Given the description of an element on the screen output the (x, y) to click on. 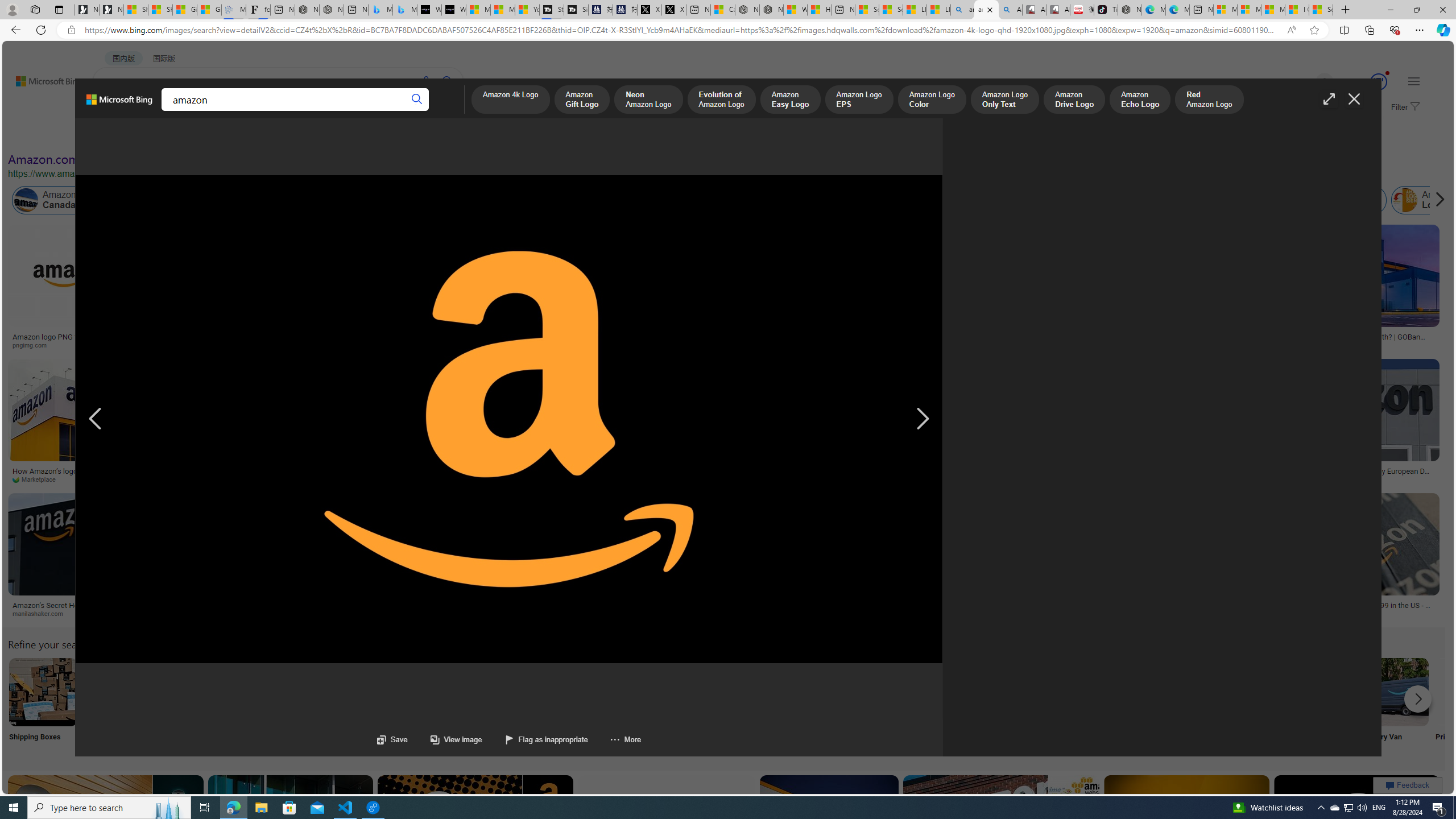
Retail Store (493, 706)
cordcuttersnews.com (285, 613)
Amazon Prime price jumping to $99 in the US - The Verge (1352, 608)
Dallas Morning News (429, 479)
Search using voice (426, 80)
Echo Dot 4th Gen (617, 264)
Amazon down? Current status and problems | Downdetector (861, 340)
App Store Download (1319, 706)
Amazon Forest (999, 200)
Nordace - Best Sellers (1129, 9)
